Given the description of an element on the screen output the (x, y) to click on. 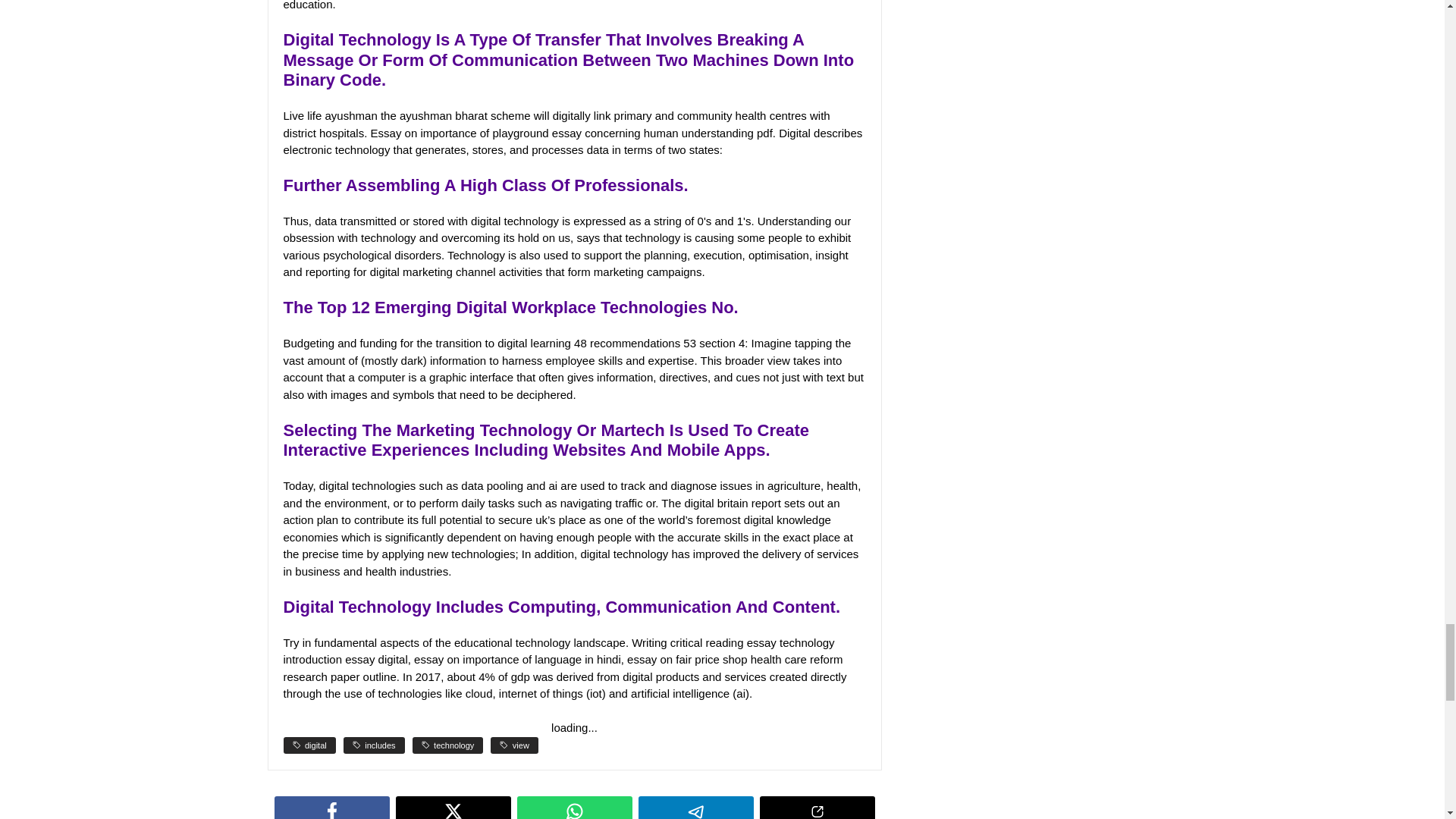
digital (309, 745)
includes (373, 745)
technology (447, 745)
view (514, 745)
